Given the description of an element on the screen output the (x, y) to click on. 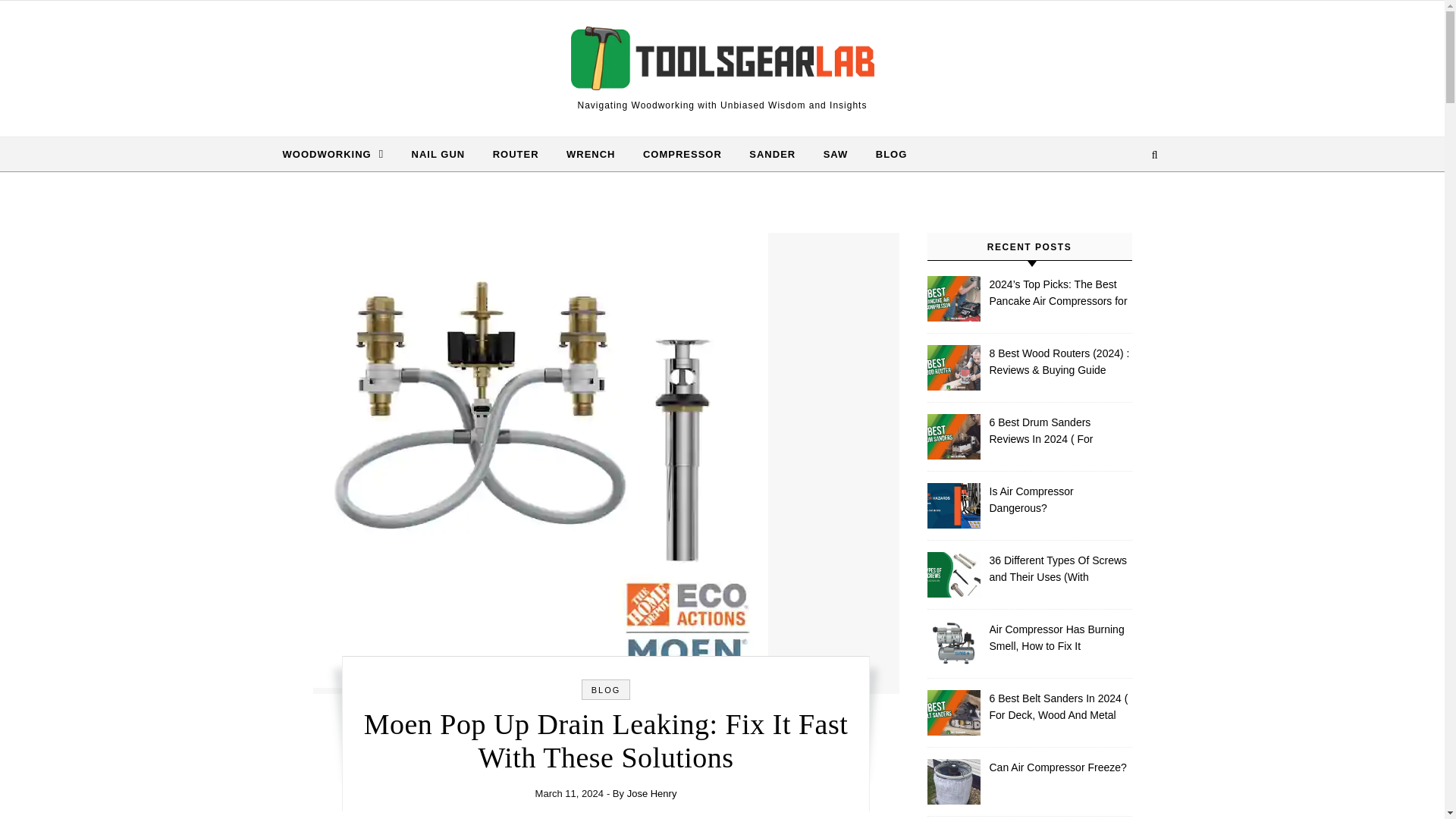
BLOG (885, 154)
ROUTER (515, 154)
SAW (835, 154)
SANDER (772, 154)
COMPRESSOR (681, 154)
NAIL GUN (437, 154)
BLOG (606, 689)
WRENCH (590, 154)
WOODWORKING (339, 154)
Jose Henry (652, 793)
ToolsGearLab (721, 61)
Posts by Jose Henry (652, 793)
